Given the description of an element on the screen output the (x, y) to click on. 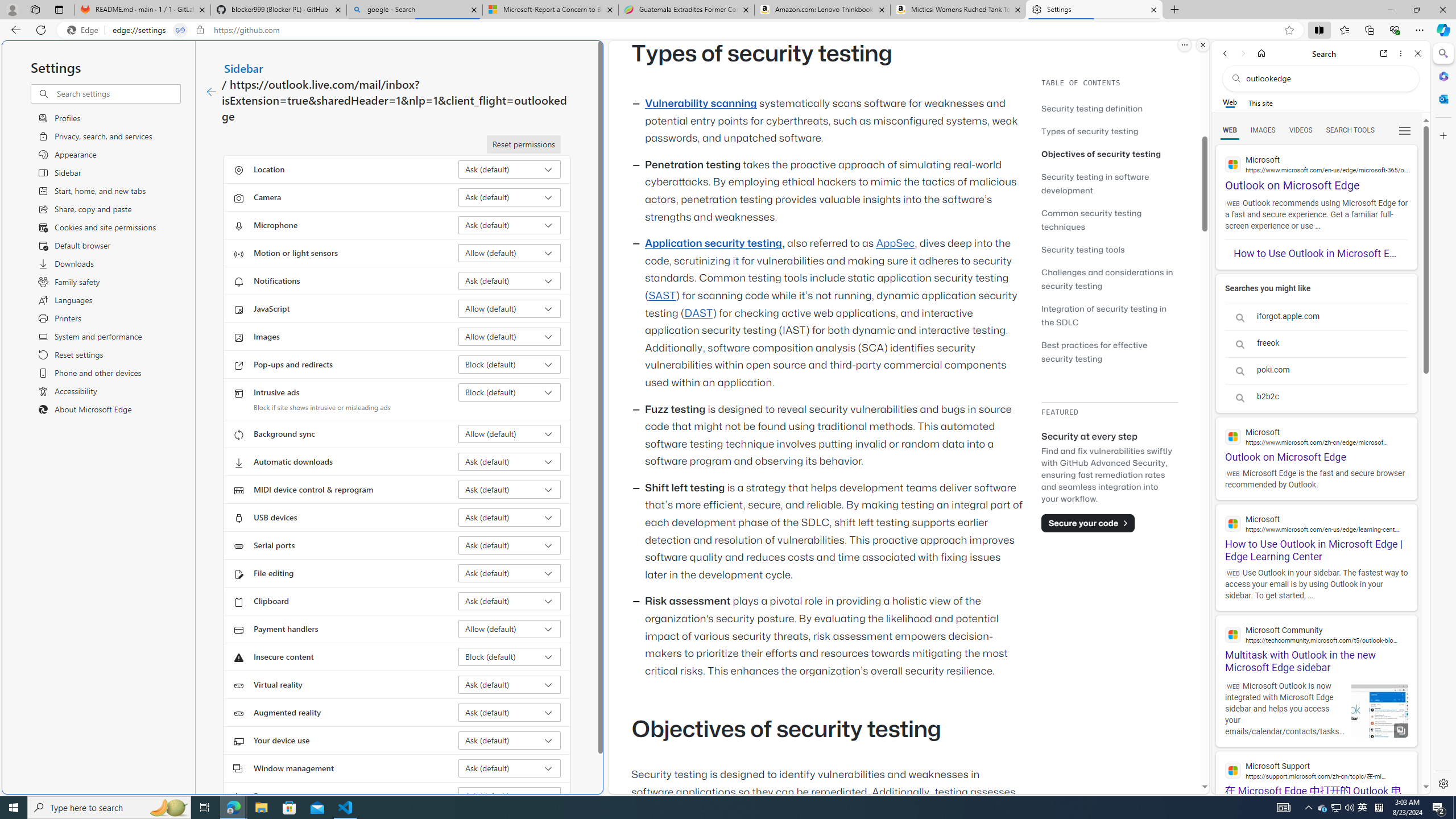
Clipboard Ask (default) (509, 601)
More options. (1183, 45)
Common security testing techniques (1109, 219)
Challenges and considerations in security testing (1109, 279)
Pop-ups and redirects Block (default) (509, 364)
Challenges and considerations in security testing (1107, 278)
Fonts Ask (default) (509, 796)
Vulnerability scanning (701, 103)
Notifications Ask (default) (509, 280)
freeok (1315, 343)
Virtual reality Ask (default) (509, 684)
